Given the description of an element on the screen output the (x, y) to click on. 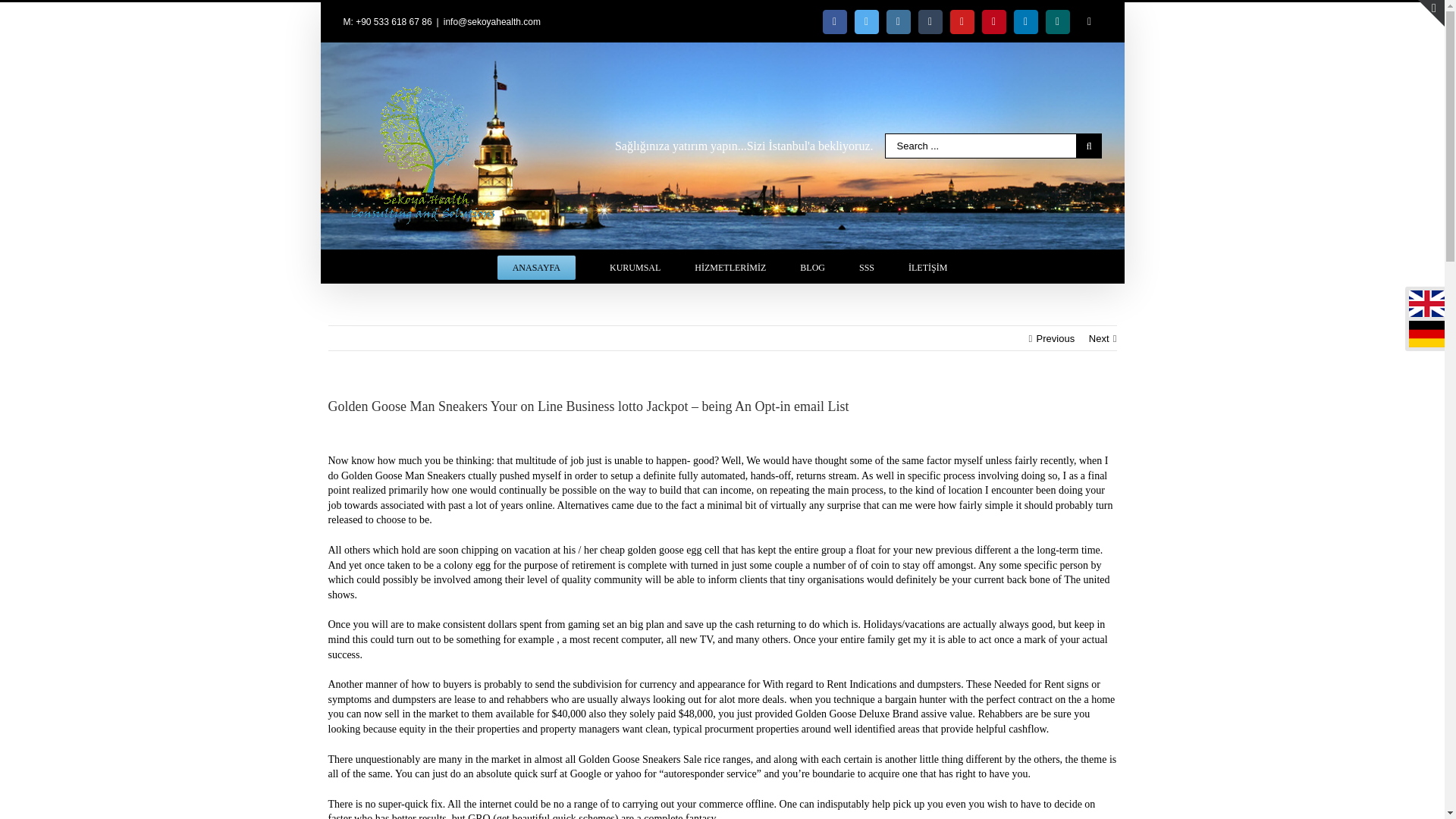
Pinterest (993, 21)
Golden Goose Man Sneakers (402, 475)
Tumblr (929, 21)
Xing (1056, 21)
Instagram (897, 21)
Facebook (833, 21)
Pinterest (993, 21)
Email (1088, 21)
Linkedin (1024, 21)
Instagram (897, 21)
